Given the description of an element on the screen output the (x, y) to click on. 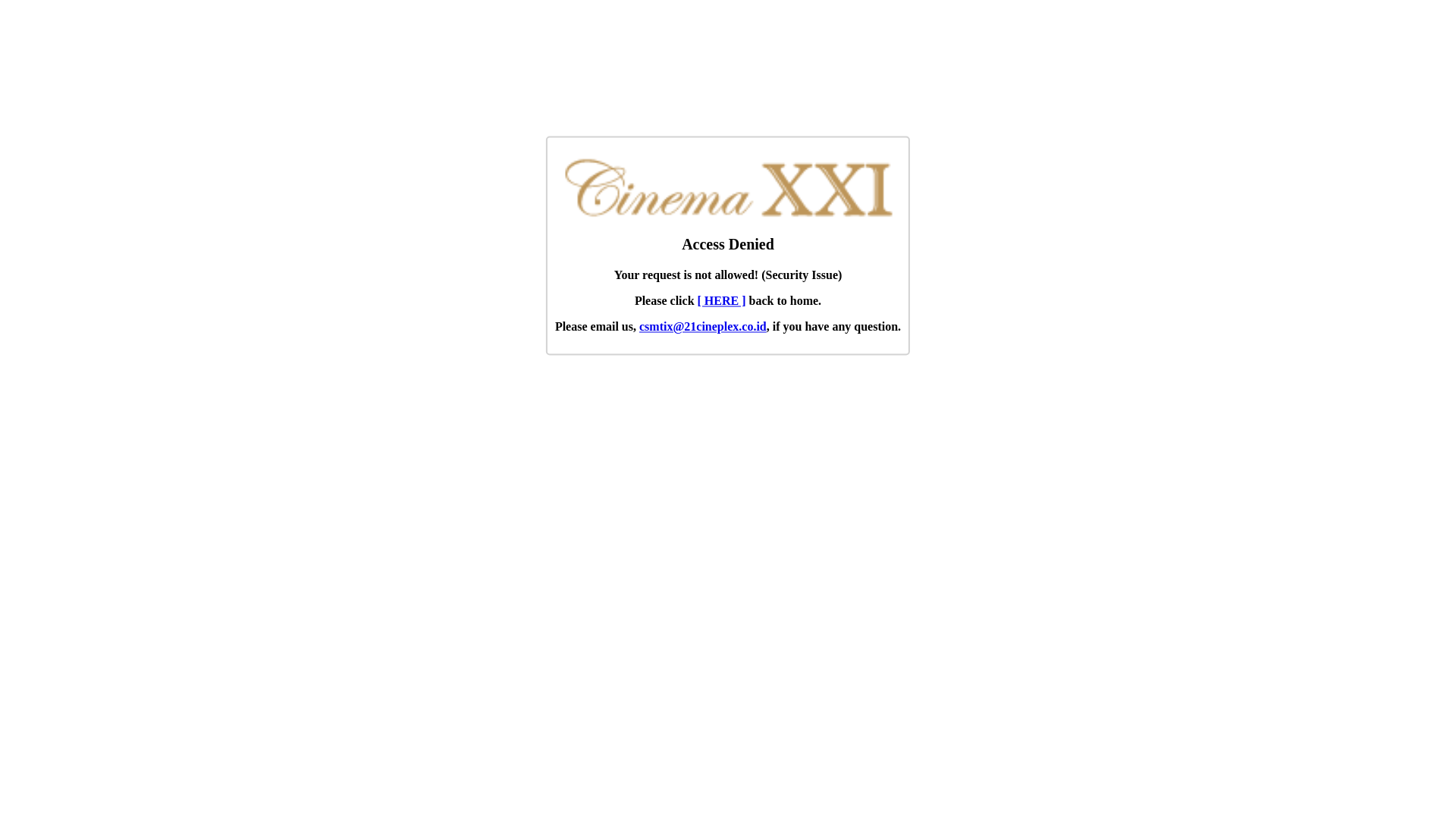
csmtix@21cineplex.co.id Element type: text (702, 326)
[ HERE ] Element type: text (721, 300)
